Given the description of an element on the screen output the (x, y) to click on. 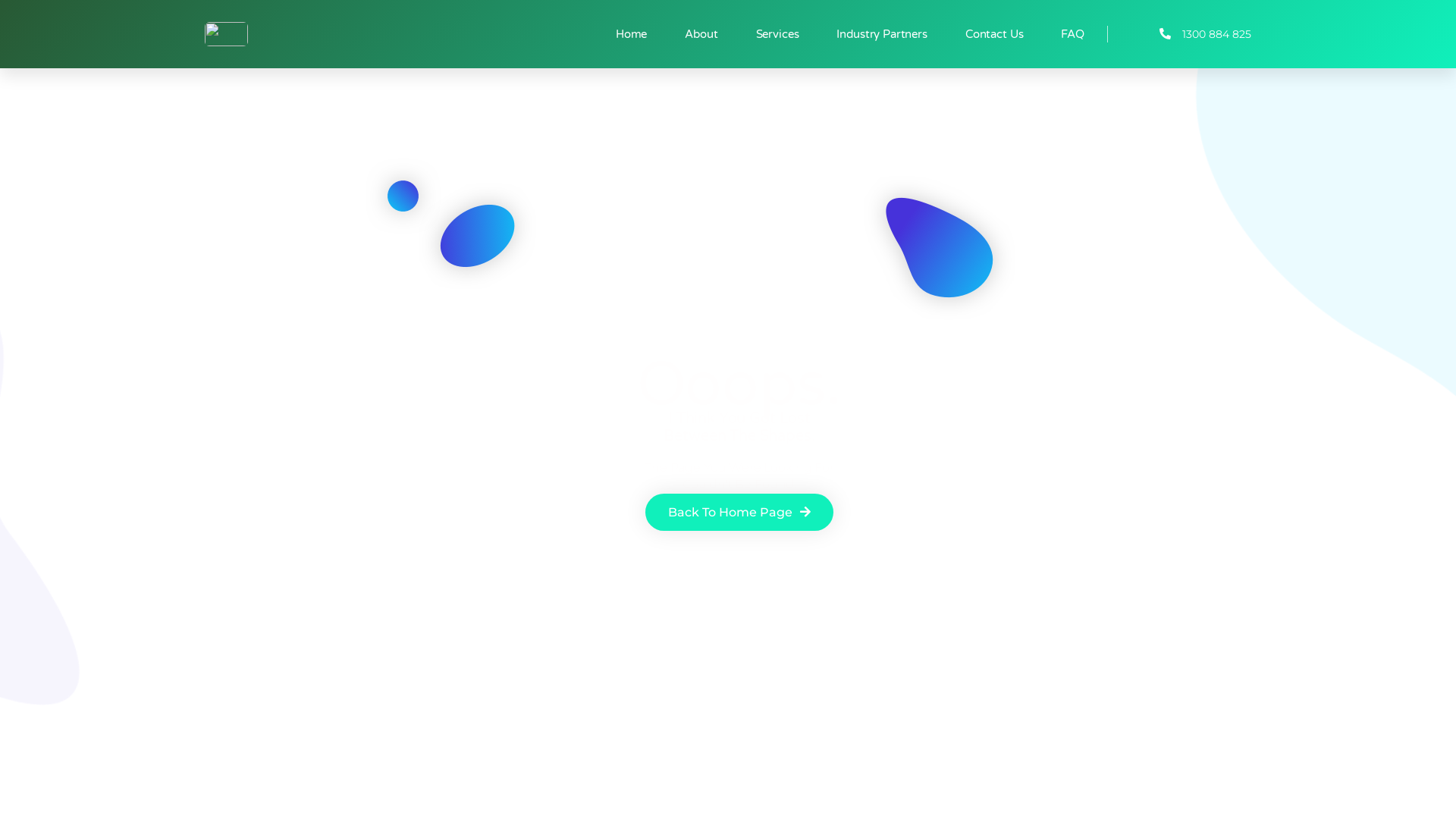
Home Element type: text (630, 33)
1300 884 825 Element type: text (1179, 33)
Back To Home Page Element type: text (739, 511)
Industry Partners Element type: text (881, 33)
Services Element type: text (777, 33)
Contact Us Element type: text (994, 33)
FAQ Element type: text (1072, 33)
About Element type: text (700, 33)
